Given the description of an element on the screen output the (x, y) to click on. 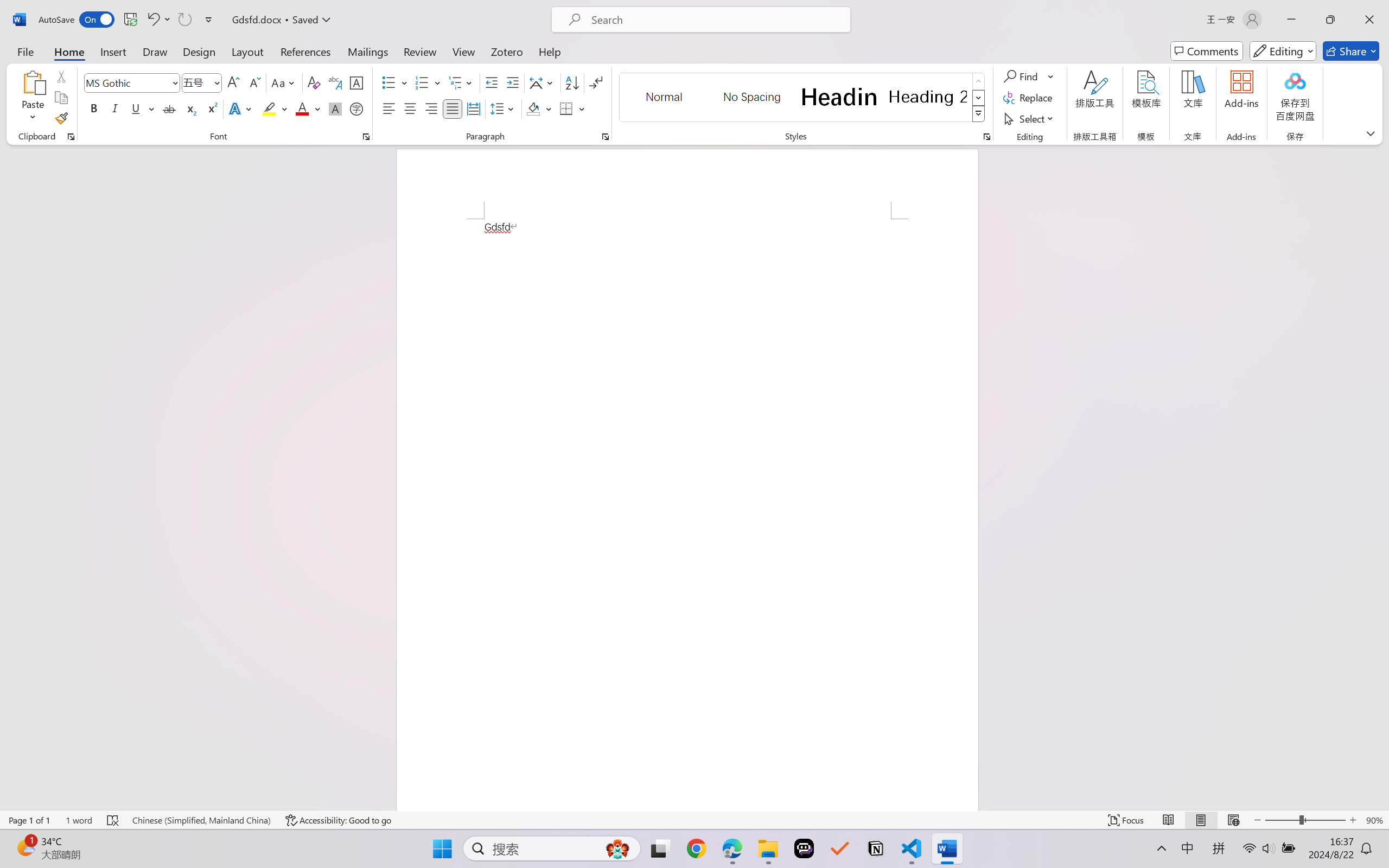
Change Case (284, 82)
Enclose Characters... (356, 108)
